Given the description of an element on the screen output the (x, y) to click on. 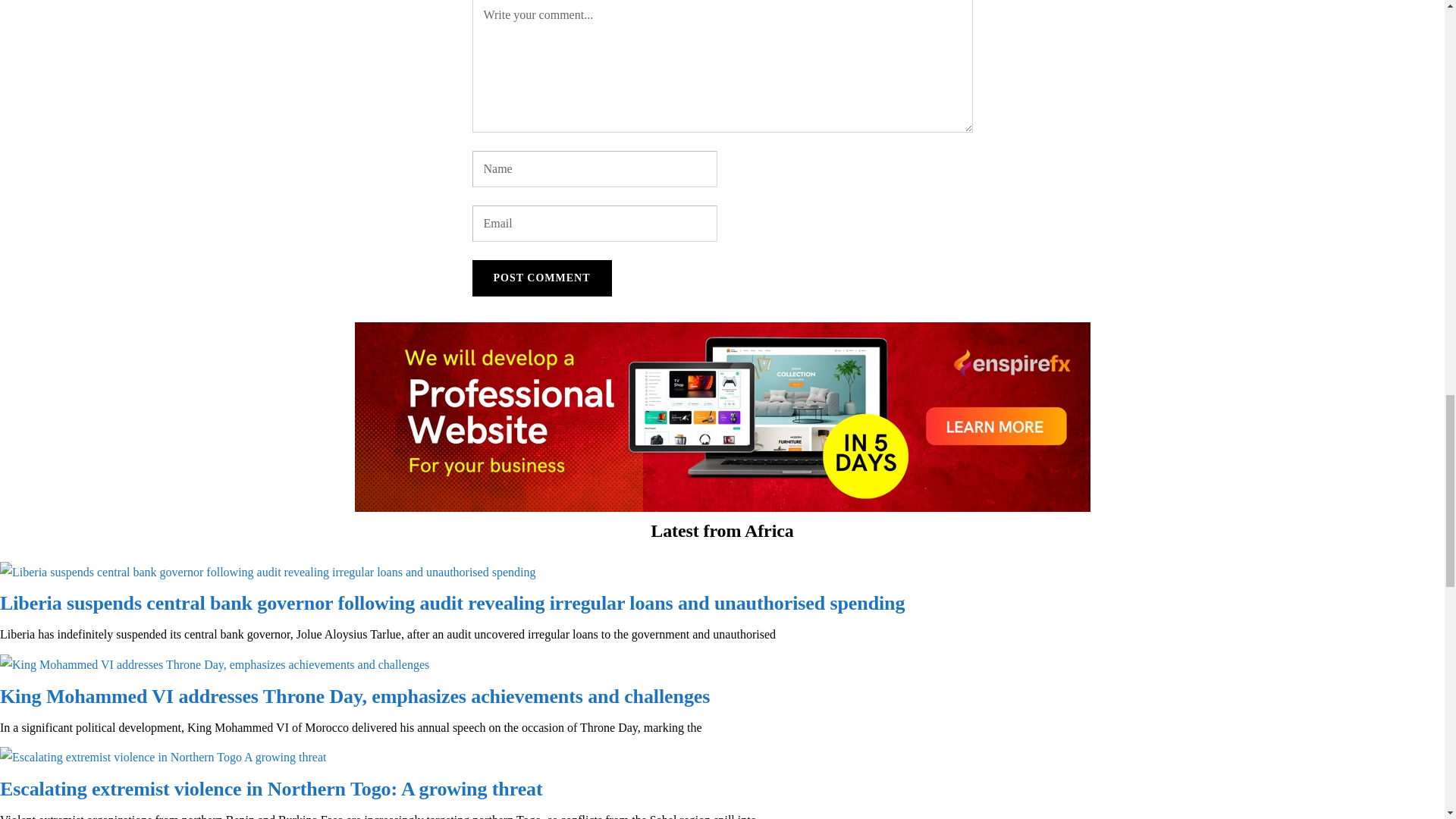
Post Comment (541, 278)
